Given the description of an element on the screen output the (x, y) to click on. 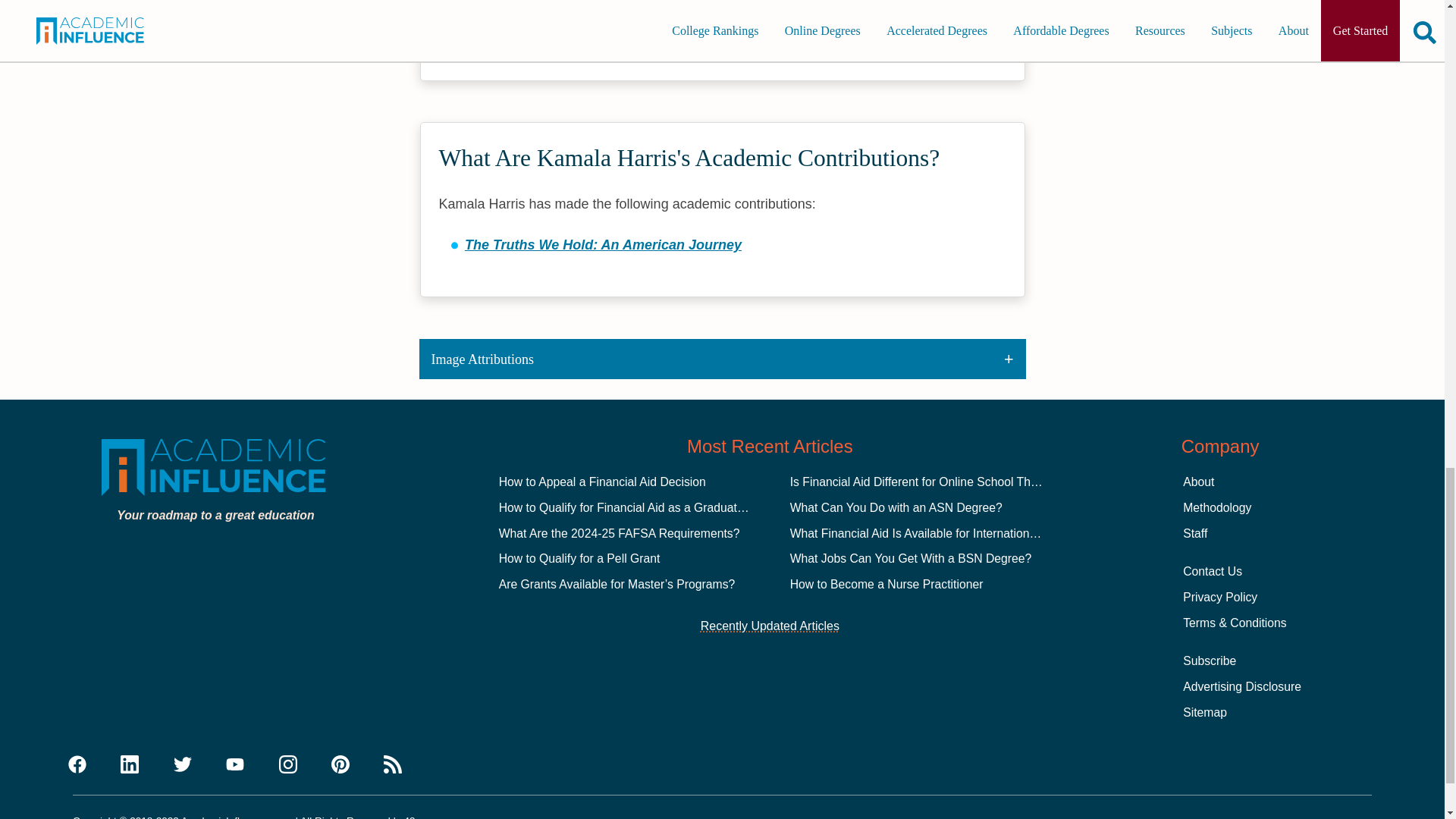
Privacy Policy (1219, 596)
Howard University (524, 28)
What Financial Aid Is Available for International Students? (943, 533)
Advertising Disclosure (1241, 686)
Contact Us (1211, 571)
Subscribe (1209, 660)
How to Appeal a Financial Aid Decision (602, 481)
Methodology (1216, 507)
University of California College of the Law, San Francisco (651, 5)
How to Qualify for a Pell Grant (580, 558)
